Given the description of an element on the screen output the (x, y) to click on. 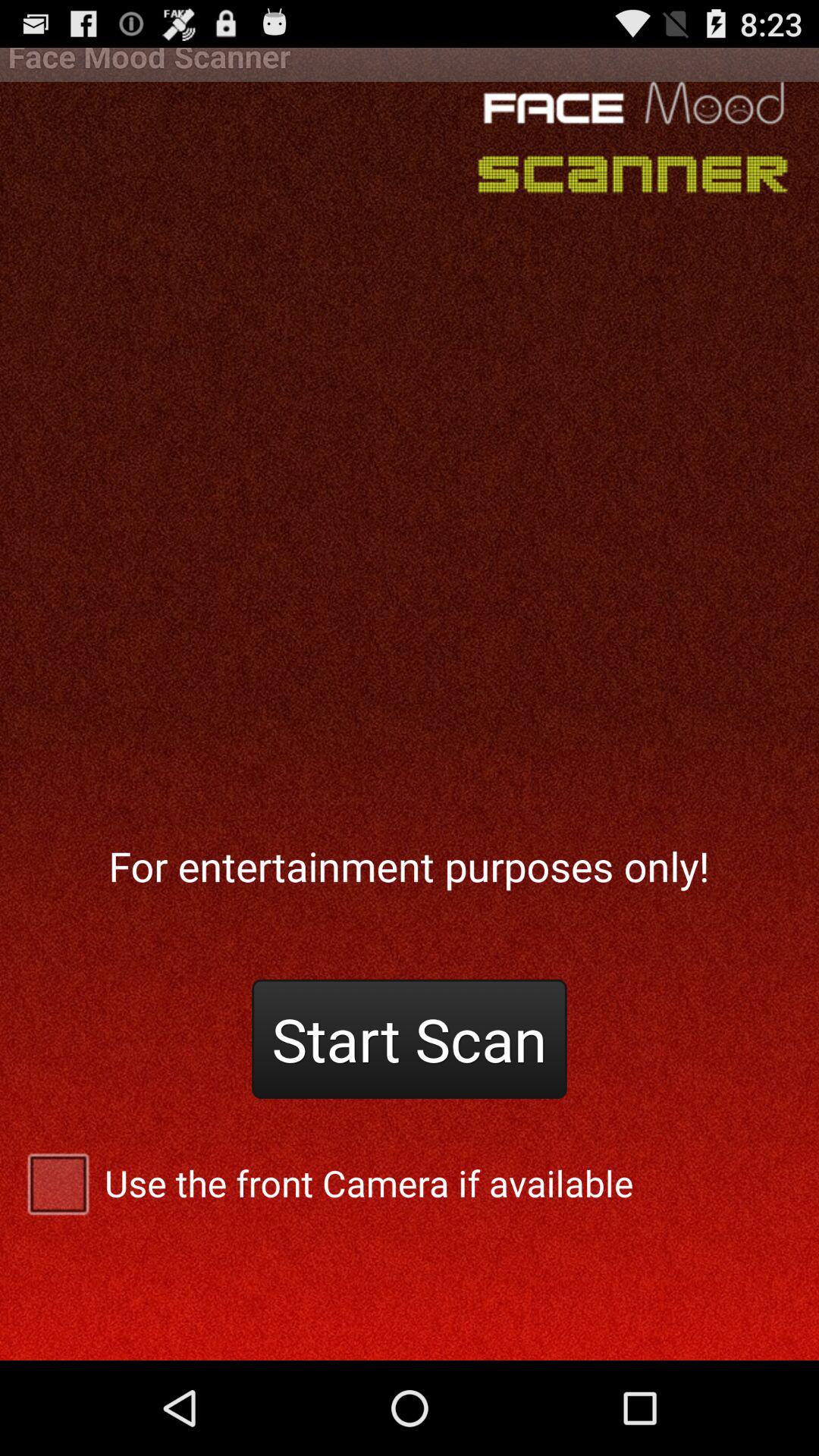
flip until the use the front checkbox (409, 1182)
